Given the description of an element on the screen output the (x, y) to click on. 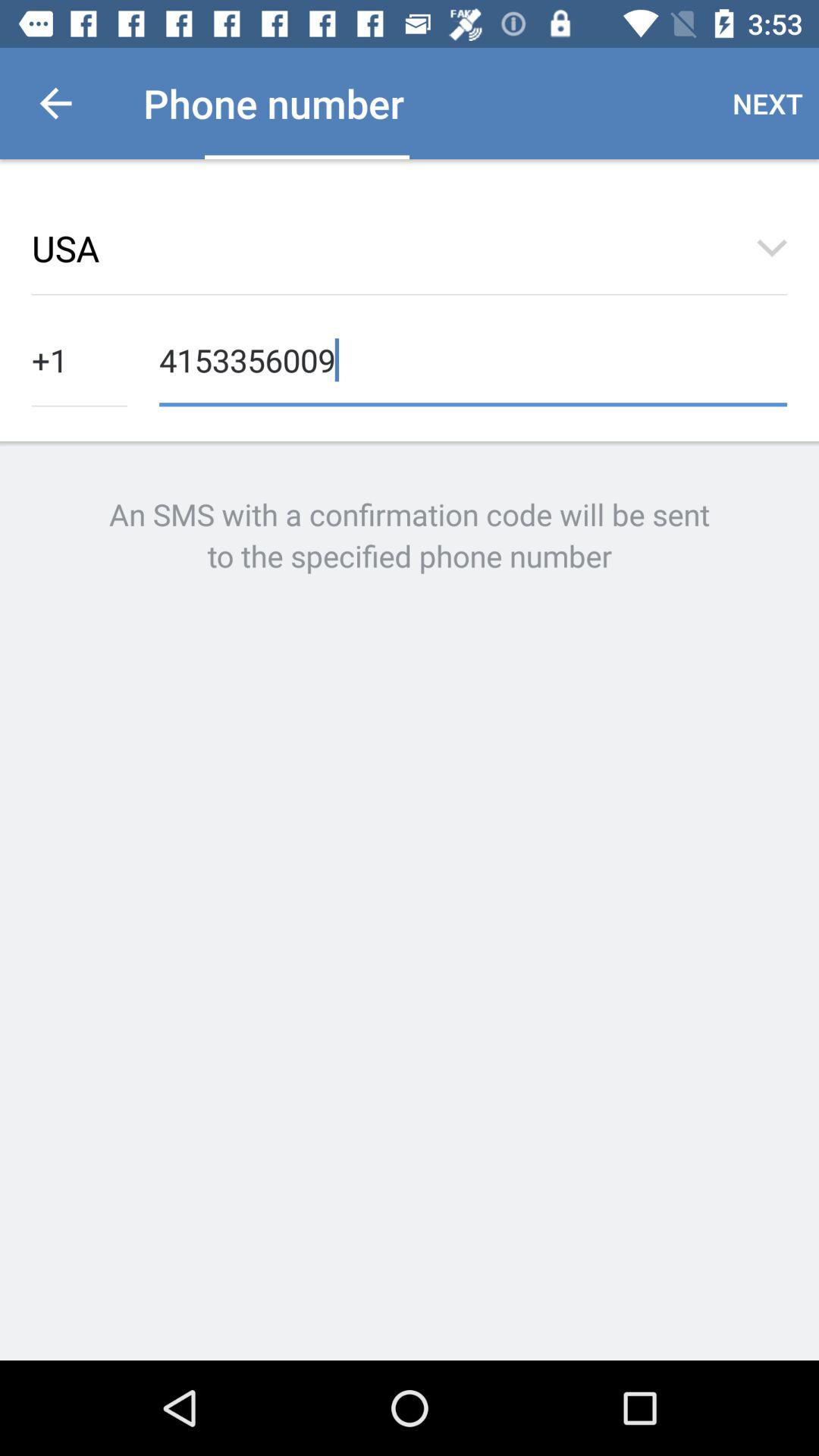
turn on the icon next to the phone number item (55, 103)
